Given the description of an element on the screen output the (x, y) to click on. 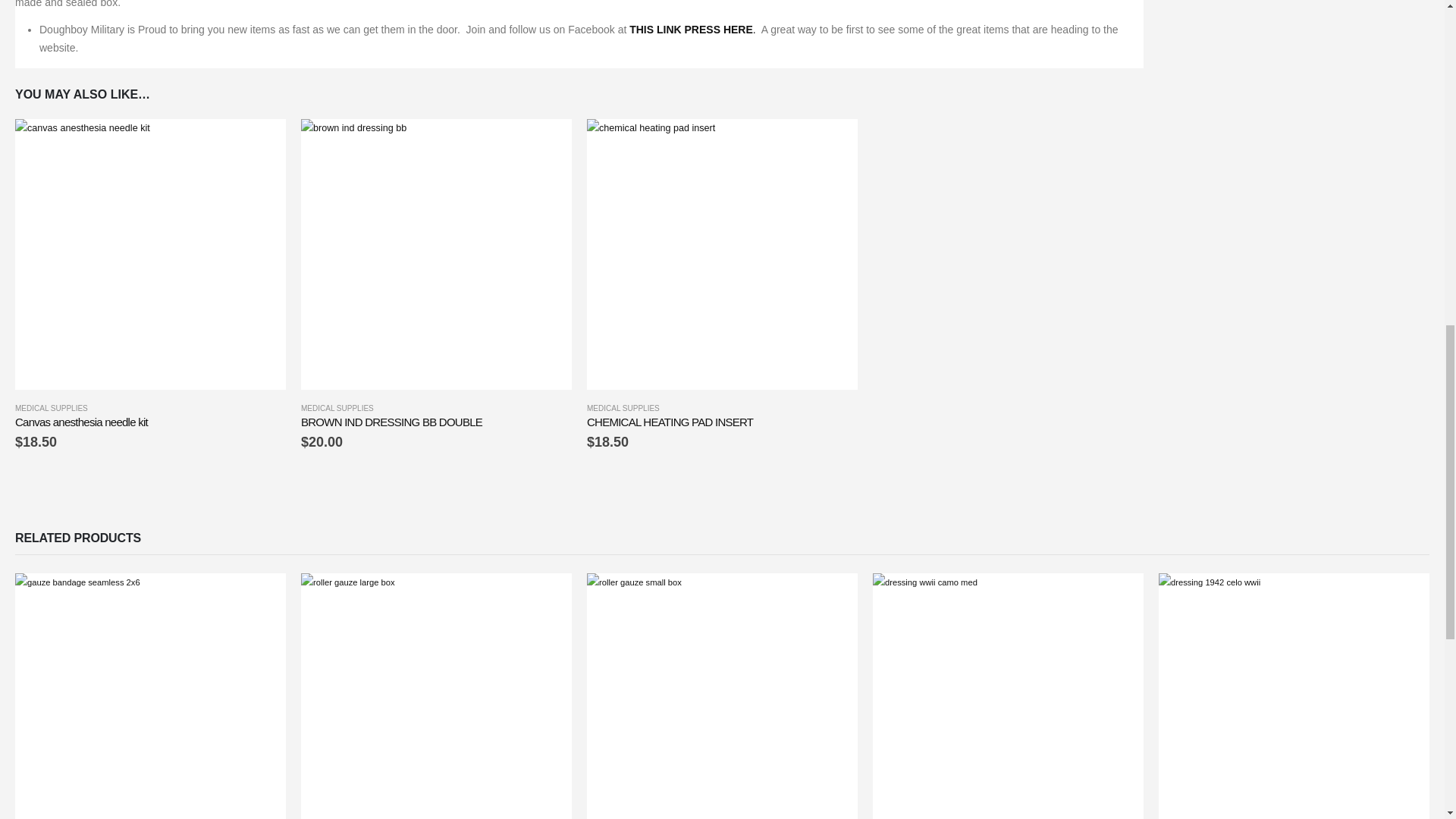
MEDICAL SUPPLIES (337, 408)
MEDICAL SUPPLIES (50, 408)
THIS LINK PRESS HERE. (691, 29)
Canvas anesthesia needle kit (149, 421)
BROWN IND DRESSING BB DOUBLE (436, 421)
MEDICAL SUPPLIES (622, 408)
CHEMICAL HEATING PAD INSERT (721, 421)
